Given the description of an element on the screen output the (x, y) to click on. 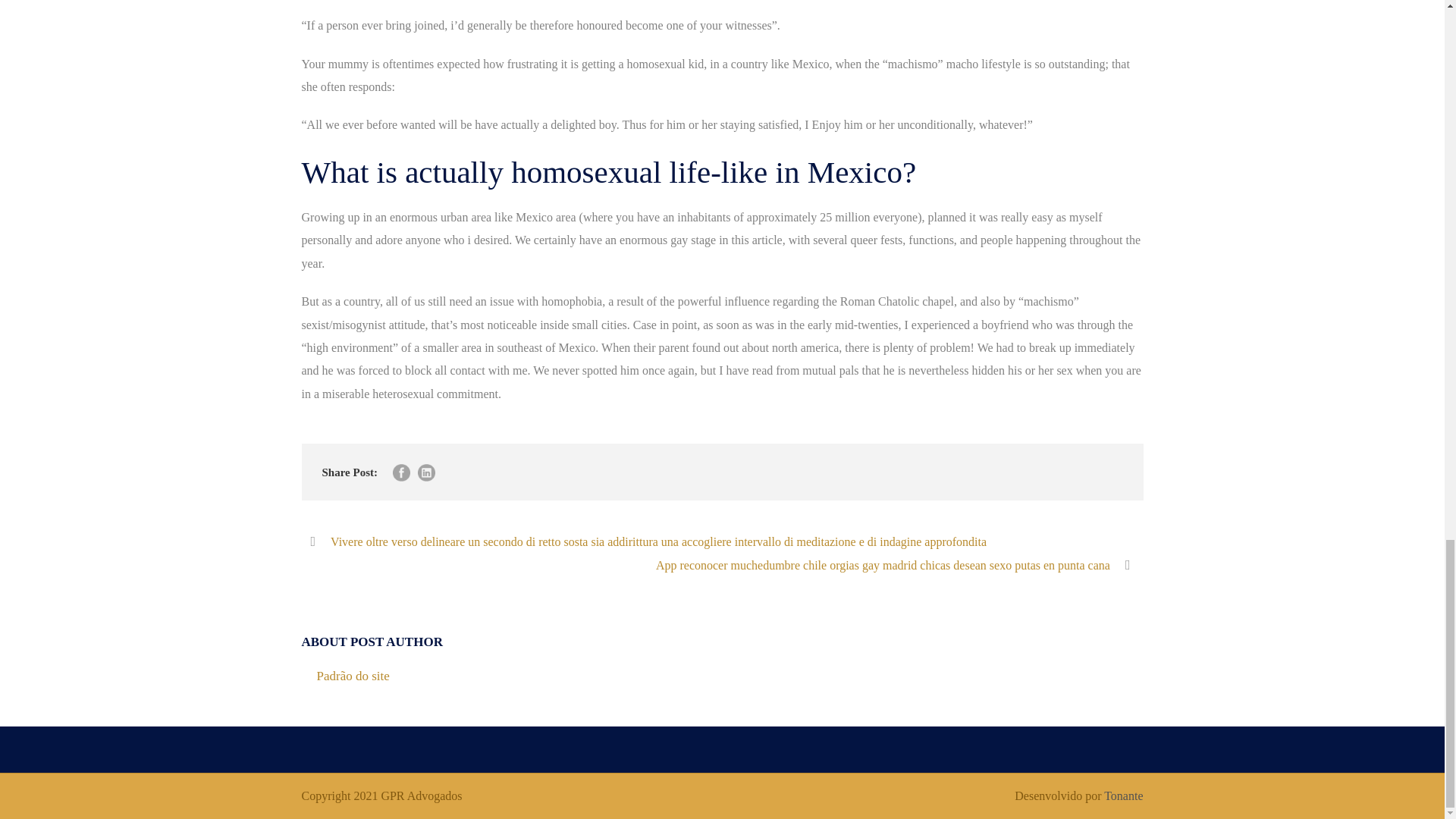
Tonante (1122, 795)
